Given the description of an element on the screen output the (x, y) to click on. 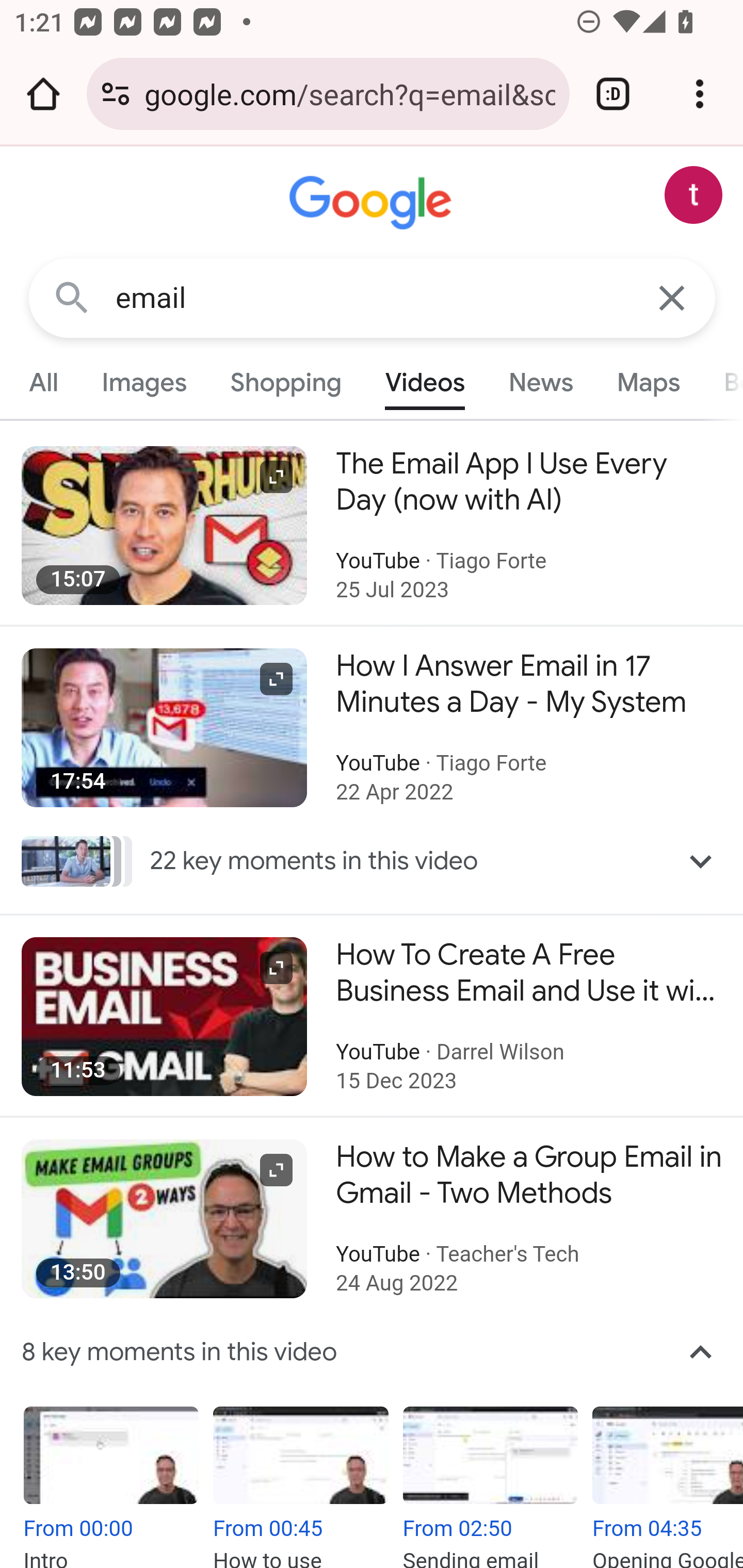
Open the home page (43, 93)
Connection is secure (115, 93)
Switch or close tabs (612, 93)
Customize and control Google Chrome (699, 93)
Google (372, 203)
Google Search (71, 296)
Clear Search (672, 296)
email (372, 297)
All (43, 382)
Images (144, 382)
Shopping (285, 382)
News (540, 382)
Maps (647, 382)
22 key moments in this video (372, 860)
8 key moments in this video (372, 1352)
Intro. 1 of 8, 0 seconds.  (114, 1486)
